Given the description of an element on the screen output the (x, y) to click on. 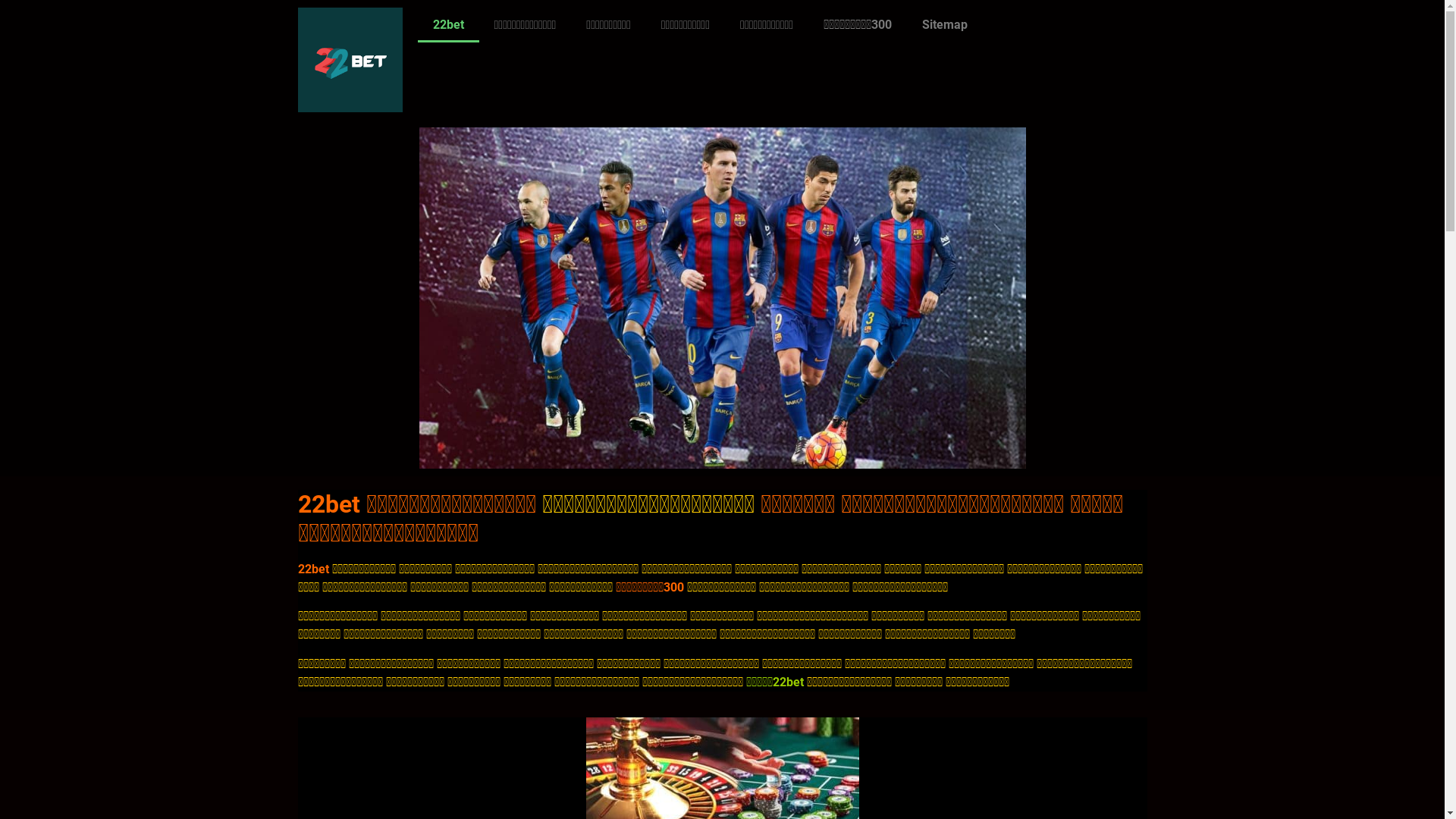
22bet Element type: text (447, 24)
Sitemap Element type: text (944, 24)
